Given the description of an element on the screen output the (x, y) to click on. 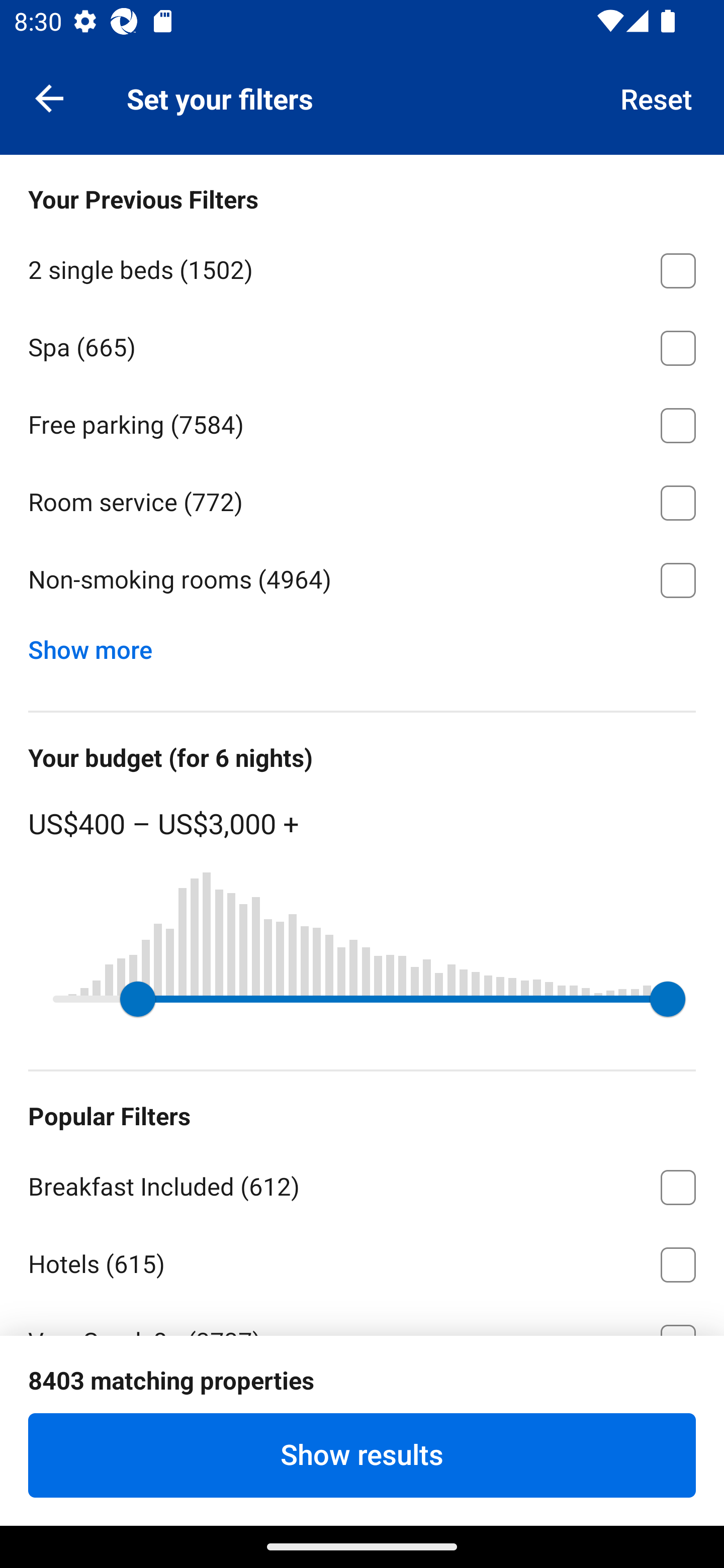
Navigate up (49, 97)
Reset (656, 97)
2 single beds ⁦(1502) (361, 266)
Spa ⁦(665) (361, 344)
Free parking ⁦(7584) (361, 422)
Room service ⁦(772) (361, 498)
Non-smoking rooms ⁦(4964) (361, 579)
Show more (97, 645)
Breakfast Included ⁦(612) (361, 1183)
Hotels ⁦(615) (361, 1261)
Show results (361, 1454)
